Given the description of an element on the screen output the (x, y) to click on. 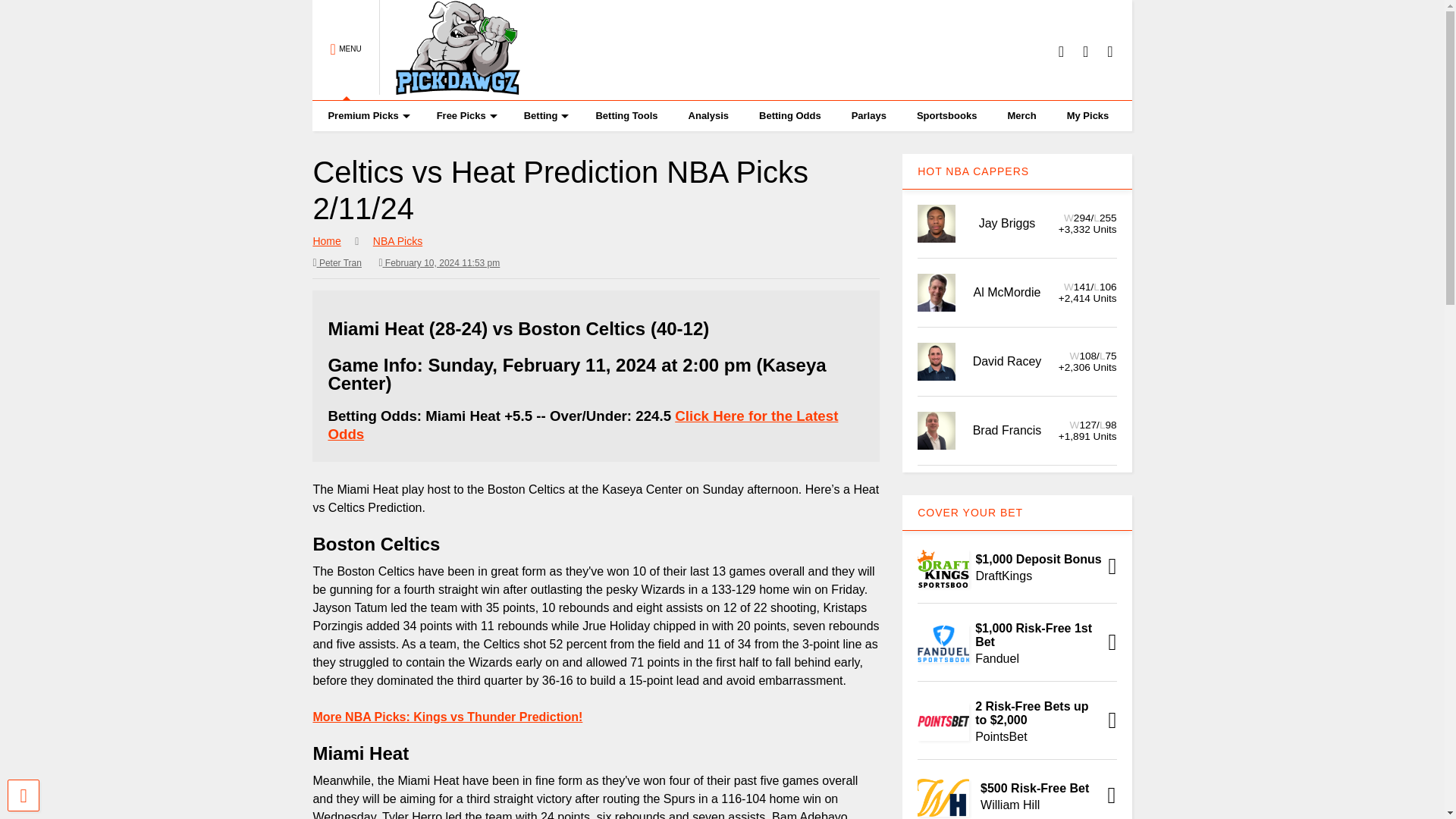
Free Picks (465, 115)
Premium Picks (366, 115)
Analysis (708, 115)
Betting (544, 115)
2024-02-10T23:53:00-0500 (438, 263)
Peter Tran (337, 263)
PickDawgz (449, 87)
MENU (345, 49)
Betting Tools (625, 115)
